Given the description of an element on the screen output the (x, y) to click on. 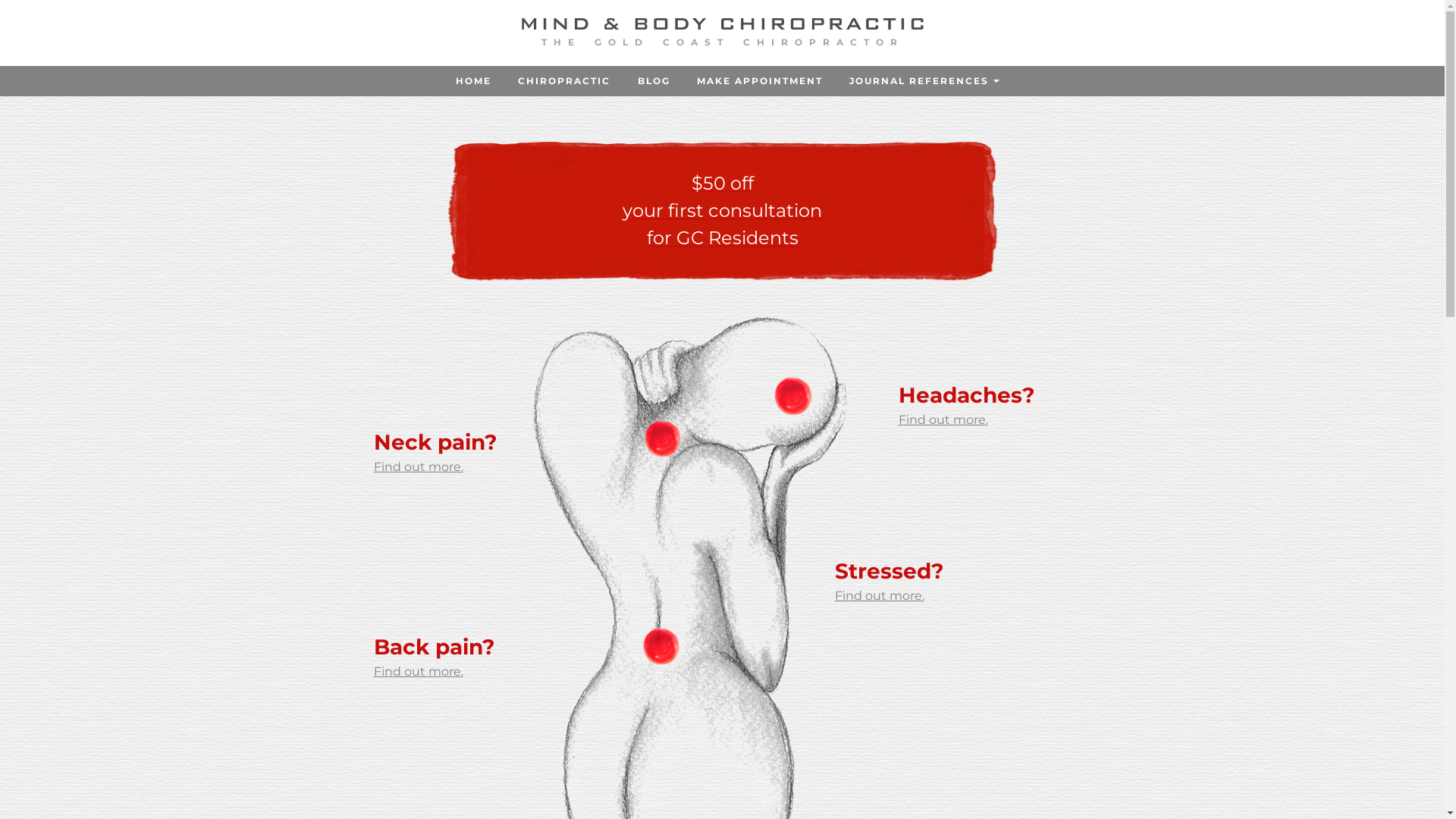
Find out more. Element type: text (417, 671)
Find out more. Element type: text (942, 419)
$50 off
your first consultation
for GC Residents Element type: text (721, 210)
Back pain? Element type: text (448, 646)
Find out more. Element type: text (417, 466)
Stressed? Element type: text (909, 571)
CHIROPRACTIC Element type: text (564, 80)
JOURNAL REFERENCES Element type: text (918, 80)
Headaches? Element type: text (973, 395)
Neck pain? Element type: text (448, 442)
THE GOLD COAST CHIROPRACTOR Element type: text (722, 38)
MAKE APPOINTMENT Element type: text (759, 80)
HOME Element type: text (473, 80)
Find out more. Element type: text (878, 595)
BLOG Element type: text (653, 80)
